Given the description of an element on the screen output the (x, y) to click on. 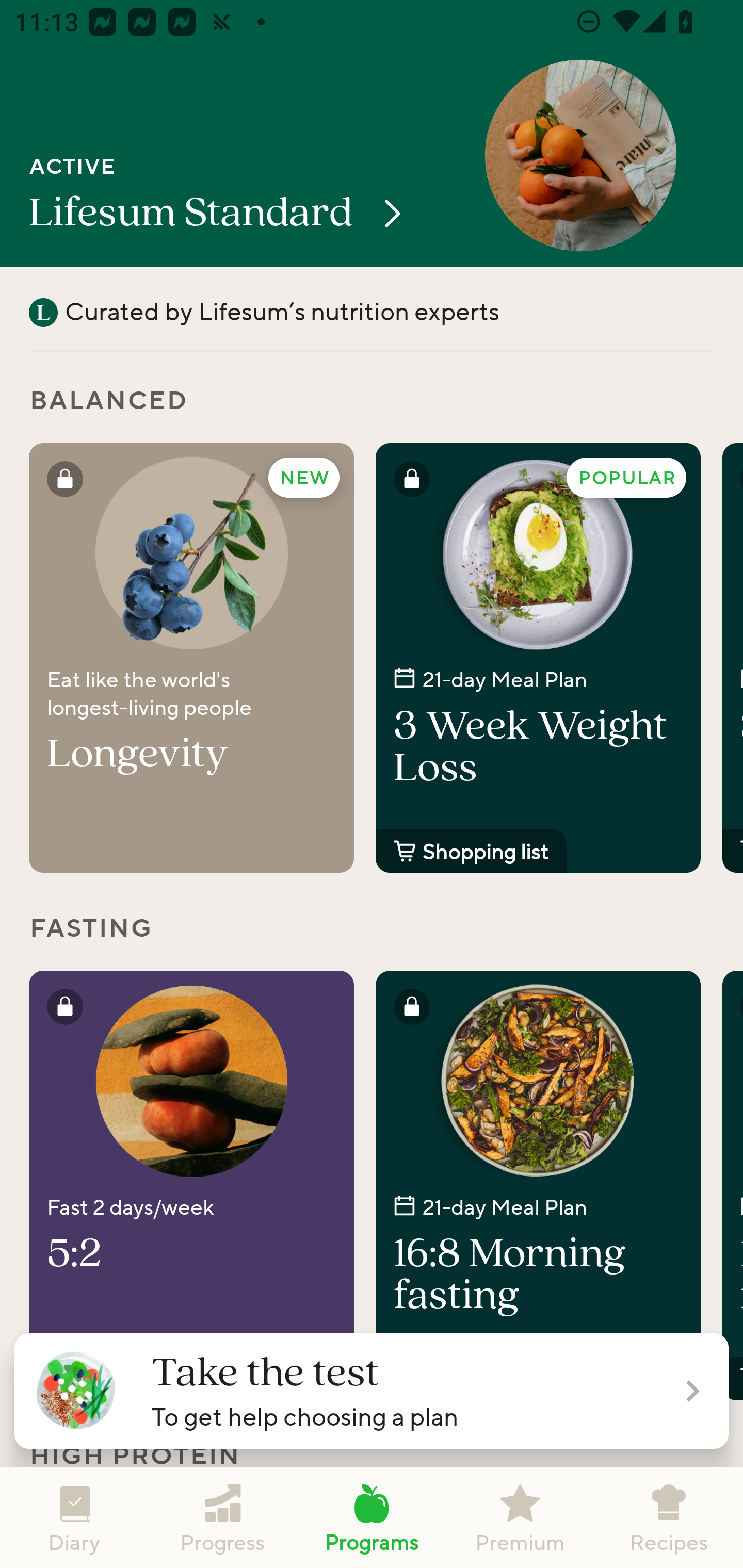
Fast 2 days/week 5:2 (190, 1185)
Take the test To get help choosing a plan (371, 1390)
Diary (74, 1517)
Progress (222, 1517)
Premium (519, 1517)
Recipes (668, 1517)
